Given the description of an element on the screen output the (x, y) to click on. 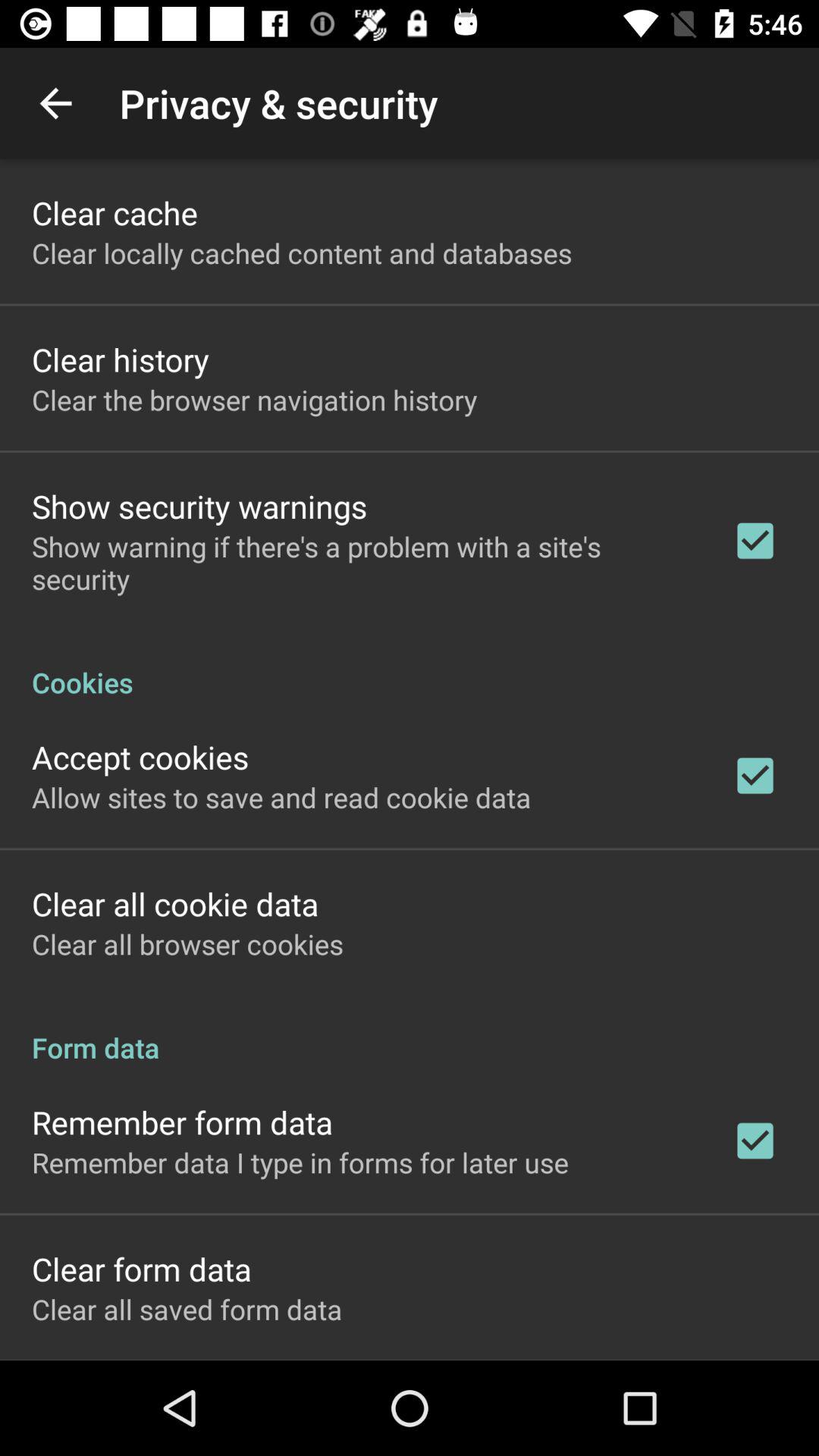
turn on the item above clear all cookie item (281, 797)
